Given the description of an element on the screen output the (x, y) to click on. 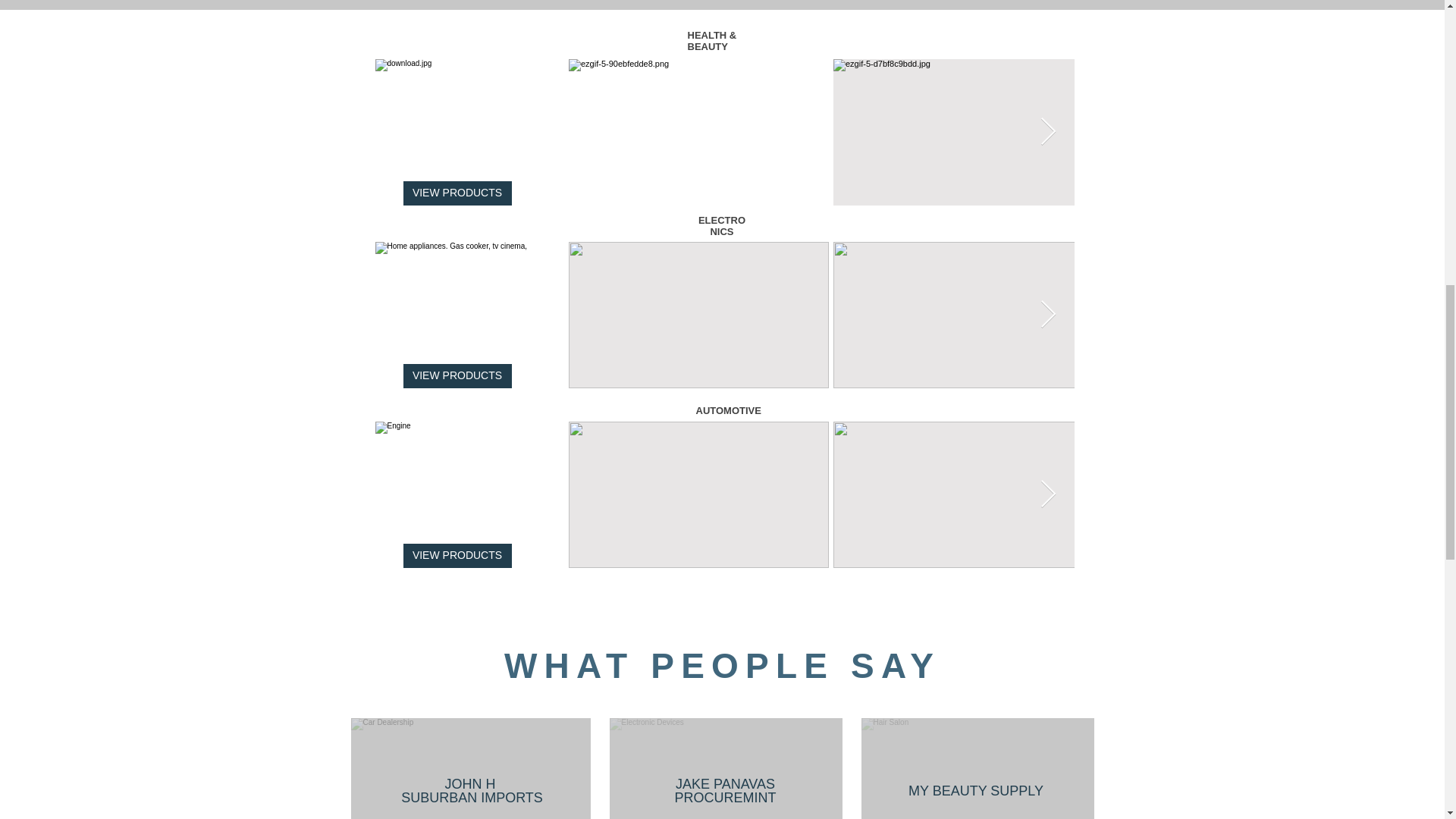
AUTOMOTIVE (728, 410)
VIEW PRODUCTS (457, 555)
ELECTRONICS (721, 225)
VIEW PRODUCTS (457, 375)
VIEW PRODUCTS (457, 192)
